Given the description of an element on the screen output the (x, y) to click on. 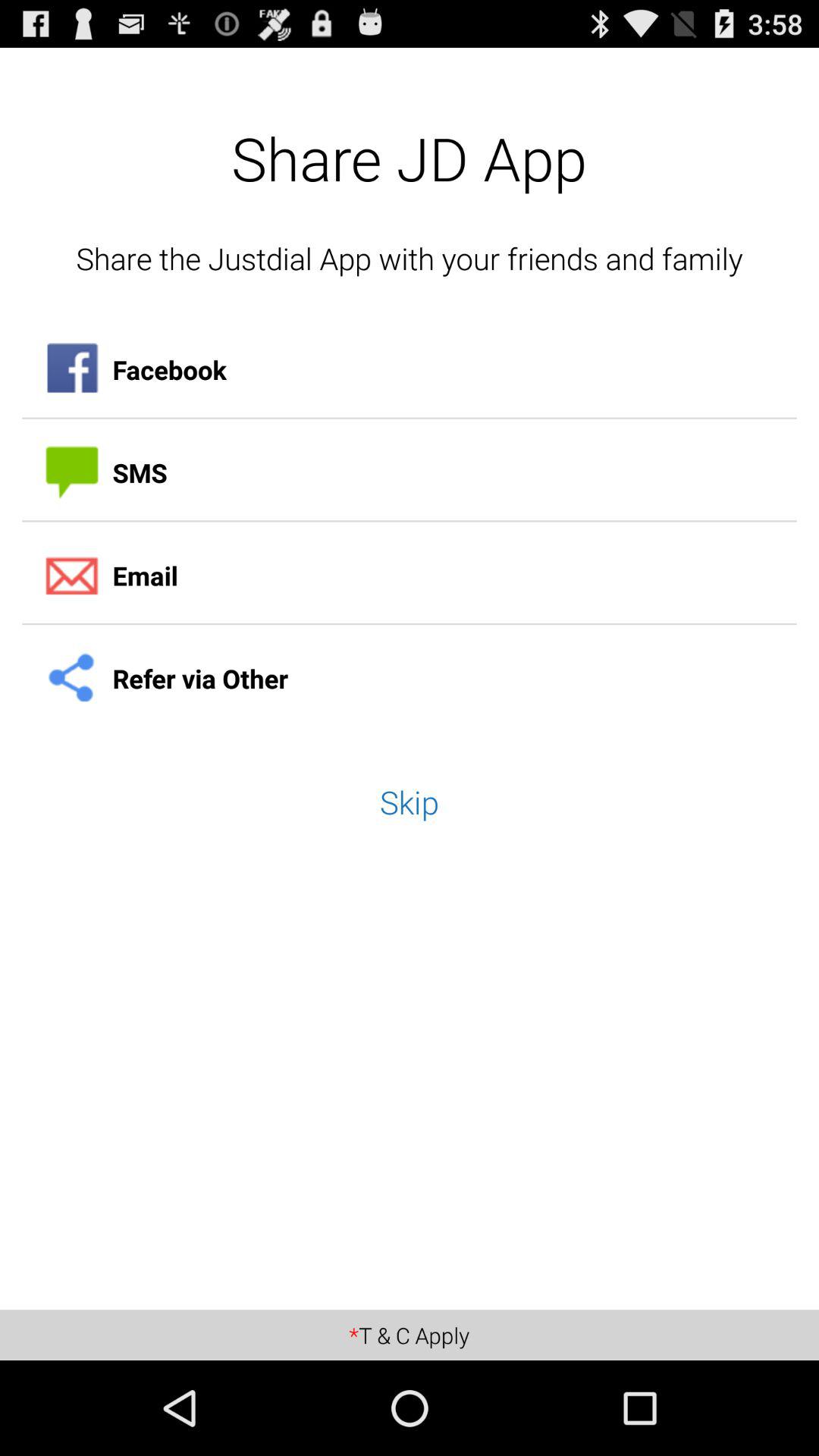
jump until skip item (409, 801)
